Given the description of an element on the screen output the (x, y) to click on. 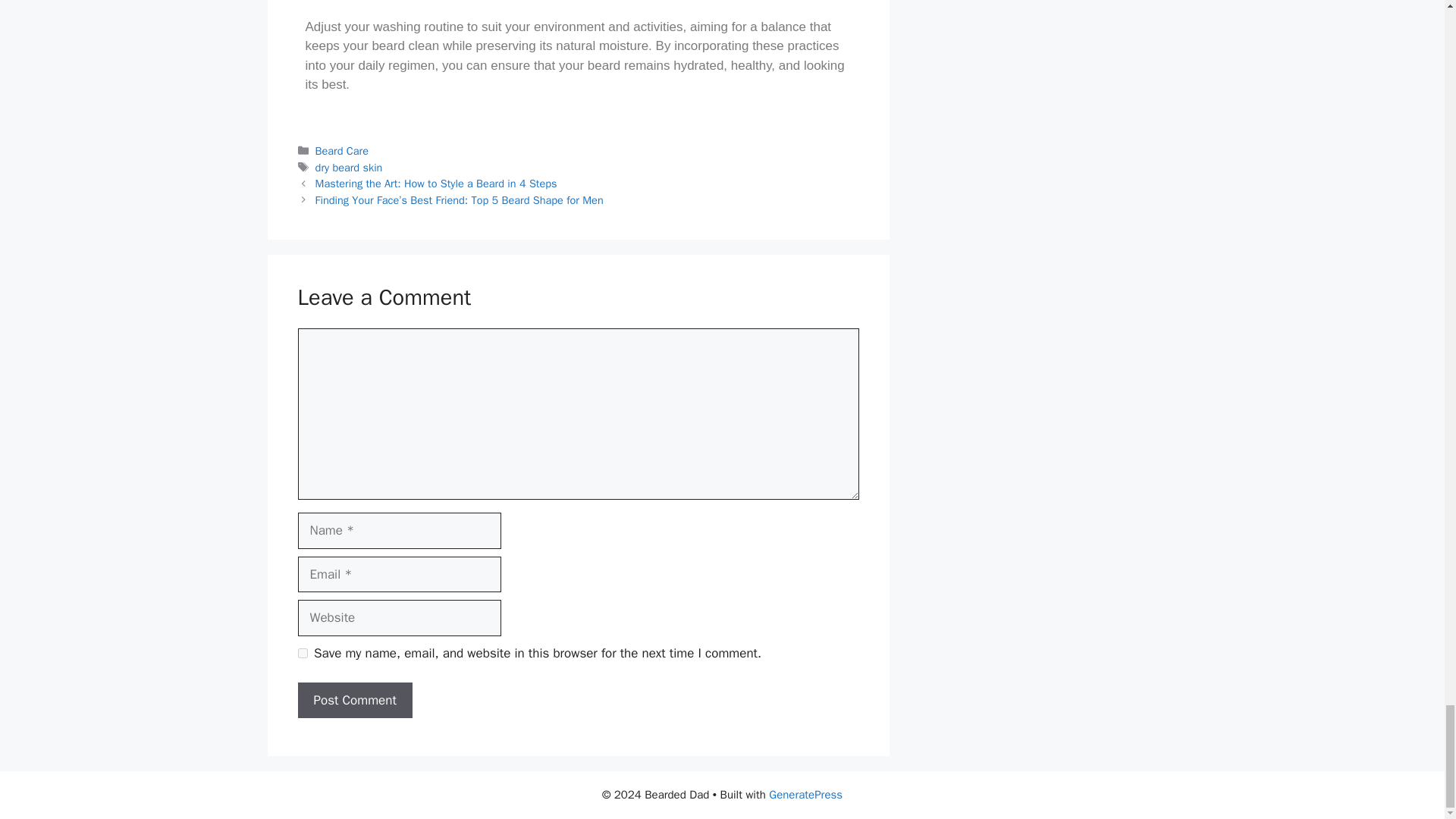
Beard Care (341, 151)
dry beard skin (348, 167)
Post Comment (354, 700)
yes (302, 653)
Mastering the Art: How to Style a Beard in 4 Steps (436, 183)
Post Comment (354, 700)
